Given the description of an element on the screen output the (x, y) to click on. 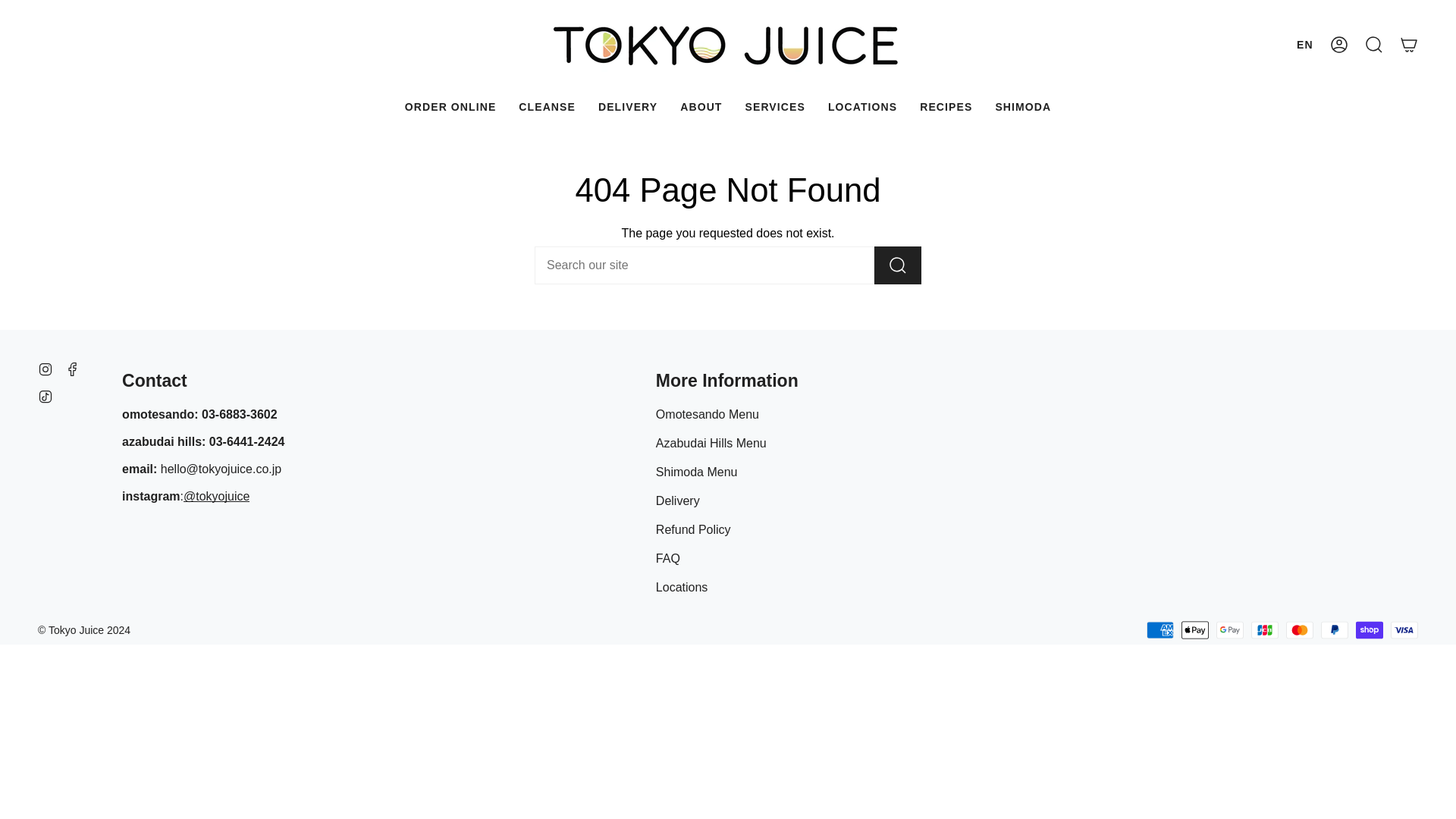
Tokyo Juice Instagram (215, 497)
Tokyo Juice on Instagram (44, 368)
ABOUT (700, 107)
LOCATIONS (862, 107)
CART (1408, 44)
Tokyo Juice on TikTok (44, 395)
Tokyo Juice on Facebook (72, 368)
My Account (1339, 44)
Search (1373, 44)
ORDER ONLINE (450, 107)
CLEANSE (546, 107)
ACCOUNT (1339, 44)
DELIVERY (627, 107)
SHIMODA (1023, 107)
RECIPES (946, 107)
